Given the description of an element on the screen output the (x, y) to click on. 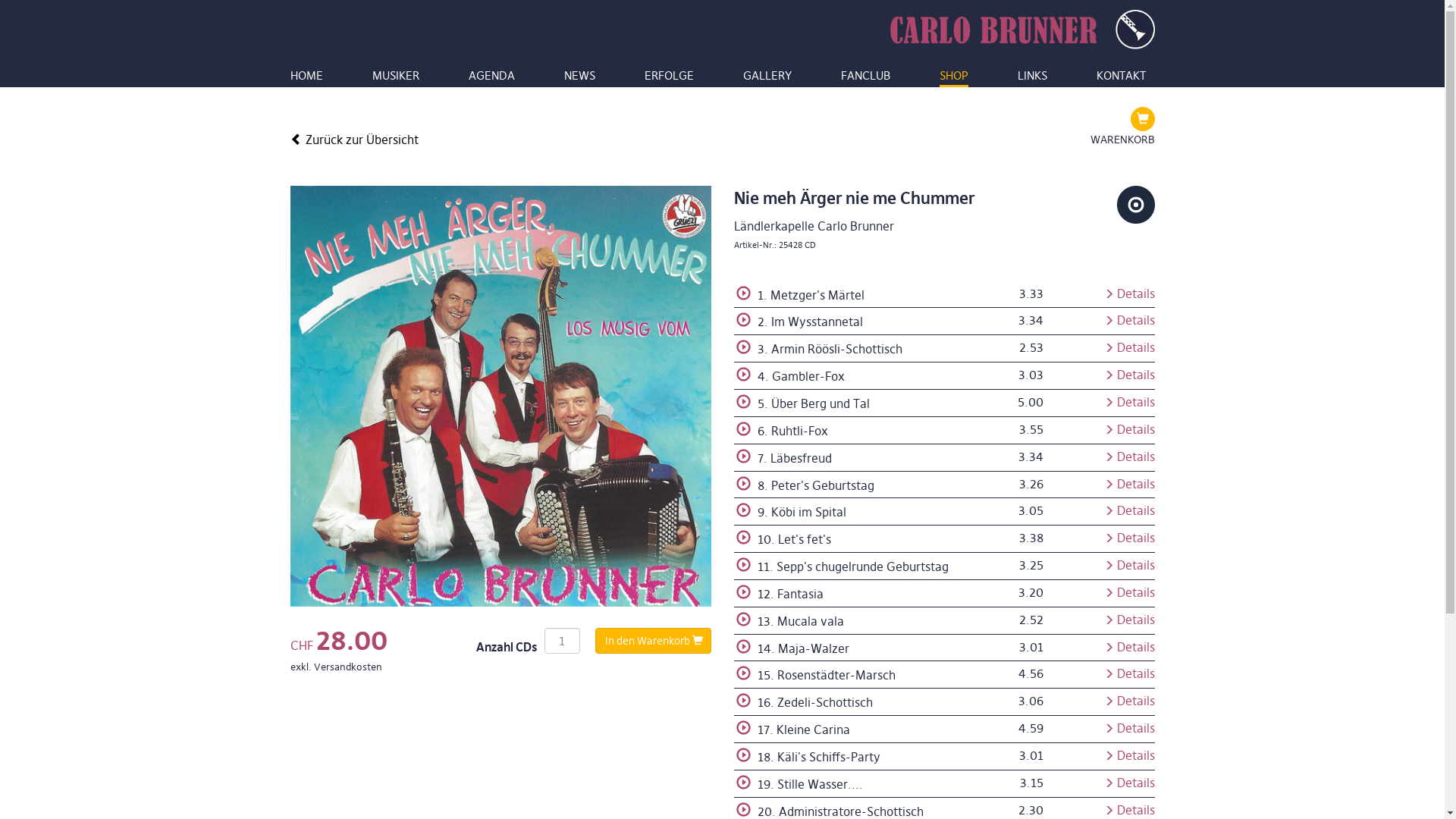
Details Element type: text (1129, 673)
Details Element type: text (1129, 347)
GALLERY Element type: text (767, 78)
MUSIKER Element type: text (394, 78)
KONTAKT Element type: text (1120, 78)
Details Element type: text (1129, 483)
LINKS Element type: text (1032, 78)
Details Element type: text (1129, 565)
Details Element type: text (1129, 456)
NEWS Element type: text (579, 78)
ERFOLGE Element type: text (668, 78)
Details Element type: text (1129, 728)
Details Element type: text (1129, 320)
SHOP Element type: text (952, 78)
Details Element type: text (1129, 646)
Details Element type: text (1129, 374)
AGENDA Element type: text (491, 78)
Details Element type: text (1129, 782)
Details Element type: text (1129, 537)
Details Element type: text (1129, 429)
WARENKORB Element type: text (1122, 126)
Details Element type: text (1129, 755)
Details Element type: text (1129, 402)
Details Element type: text (1129, 700)
Details Element type: text (1129, 592)
Details Element type: text (1129, 510)
HOME Element type: text (305, 78)
Details Element type: text (1129, 293)
Details Element type: text (1129, 619)
FANCLUB Element type: text (864, 78)
In den Warenkorb Element type: text (652, 640)
